Given the description of an element on the screen output the (x, y) to click on. 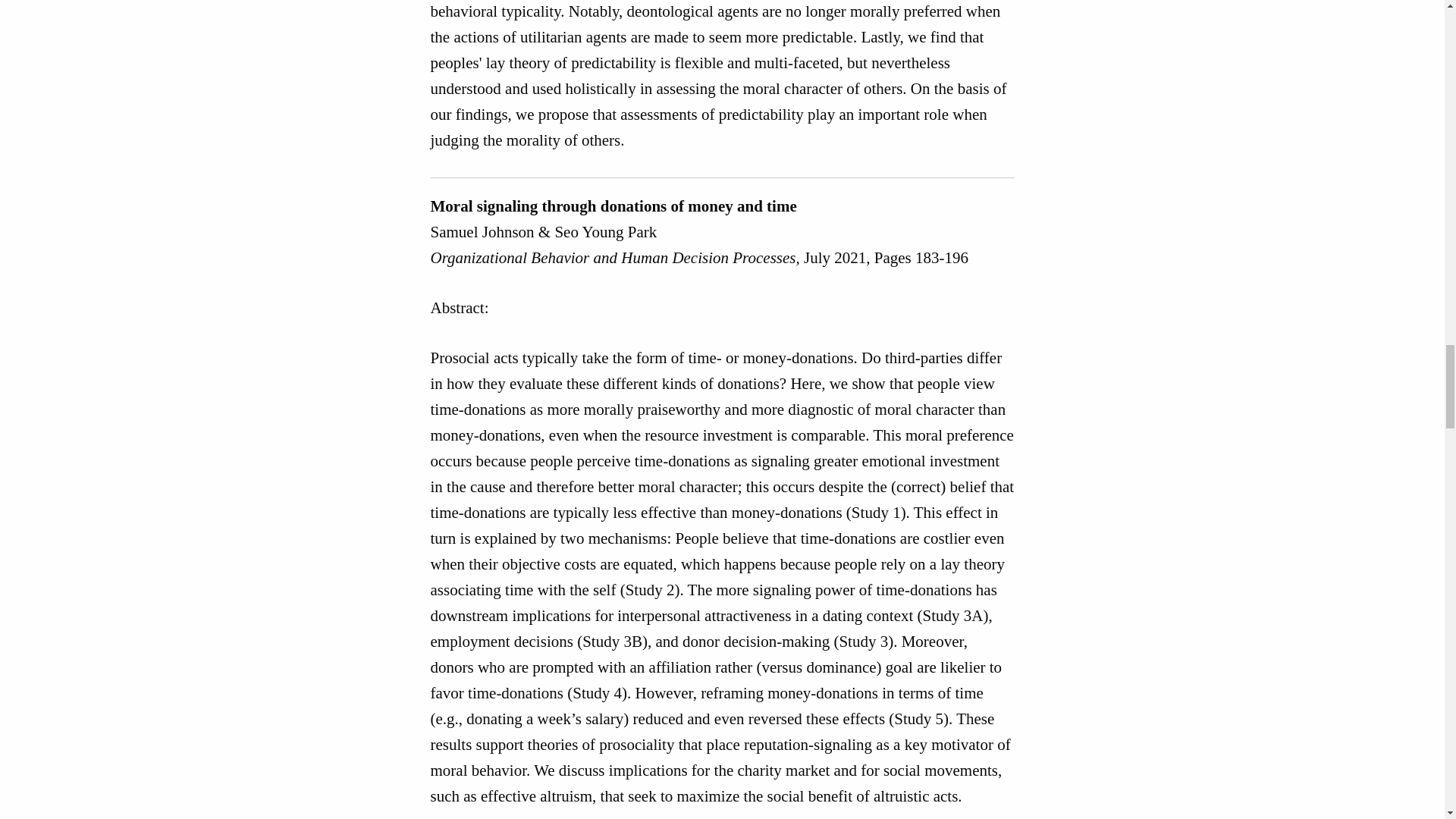
Moral signaling through donations of money and time (613, 206)
